Given the description of an element on the screen output the (x, y) to click on. 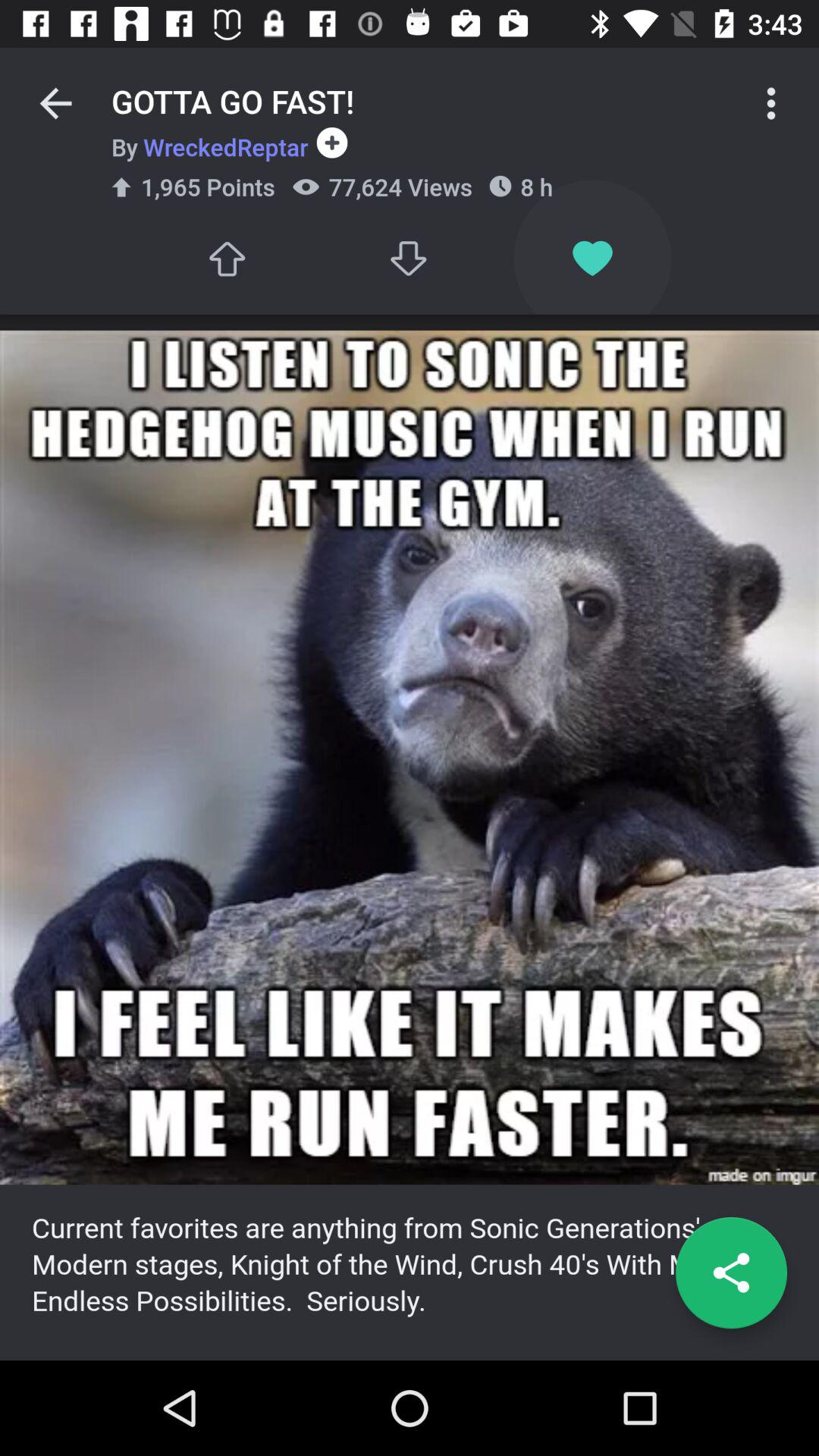
turn off the icon to the right of 8 h icon (771, 103)
